Given the description of an element on the screen output the (x, y) to click on. 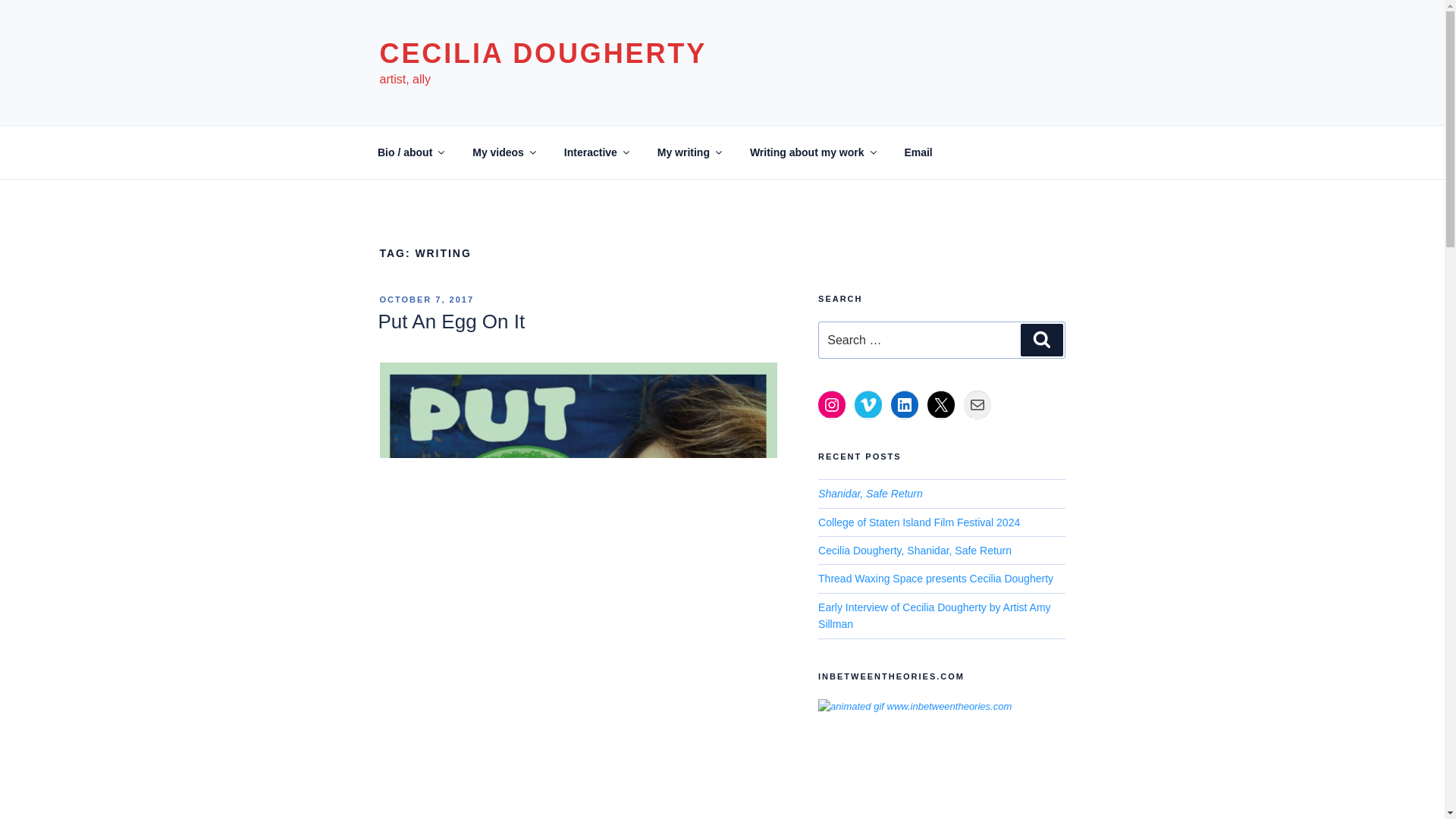
Vimeo (868, 404)
Writing about my work (812, 151)
Search (1041, 339)
Instagram (831, 404)
My writing (688, 151)
Interactive (595, 151)
CECILIA DOUGHERTY (542, 52)
OCTOBER 7, 2017 (426, 298)
Email (917, 151)
My videos (504, 151)
